Given the description of an element on the screen output the (x, y) to click on. 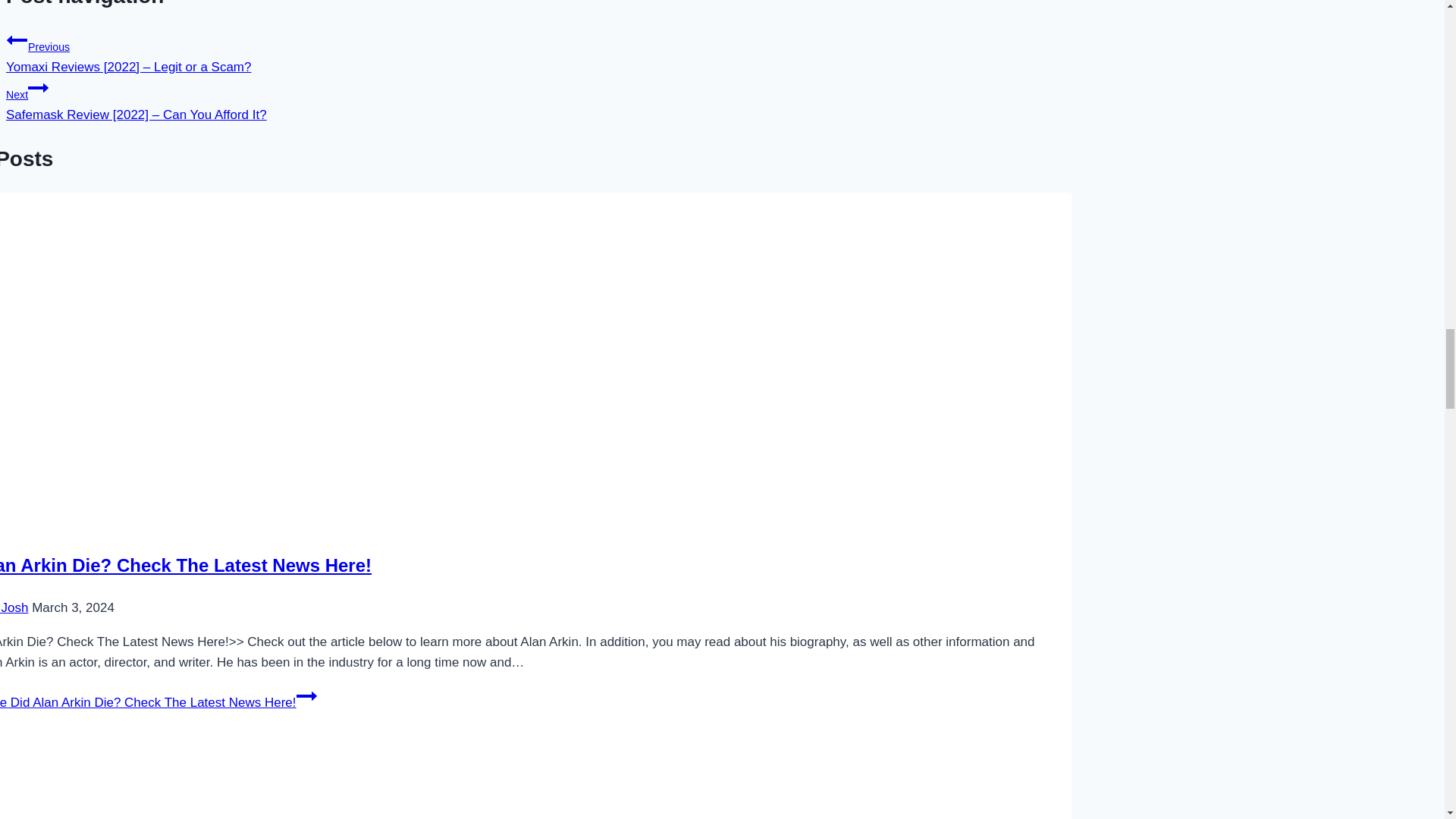
Previous (16, 39)
Amelia Josh (14, 607)
Did Alan Arkin Die? Check The Latest News Here! (185, 565)
Continue (307, 695)
Continue (37, 87)
